Given the description of an element on the screen output the (x, y) to click on. 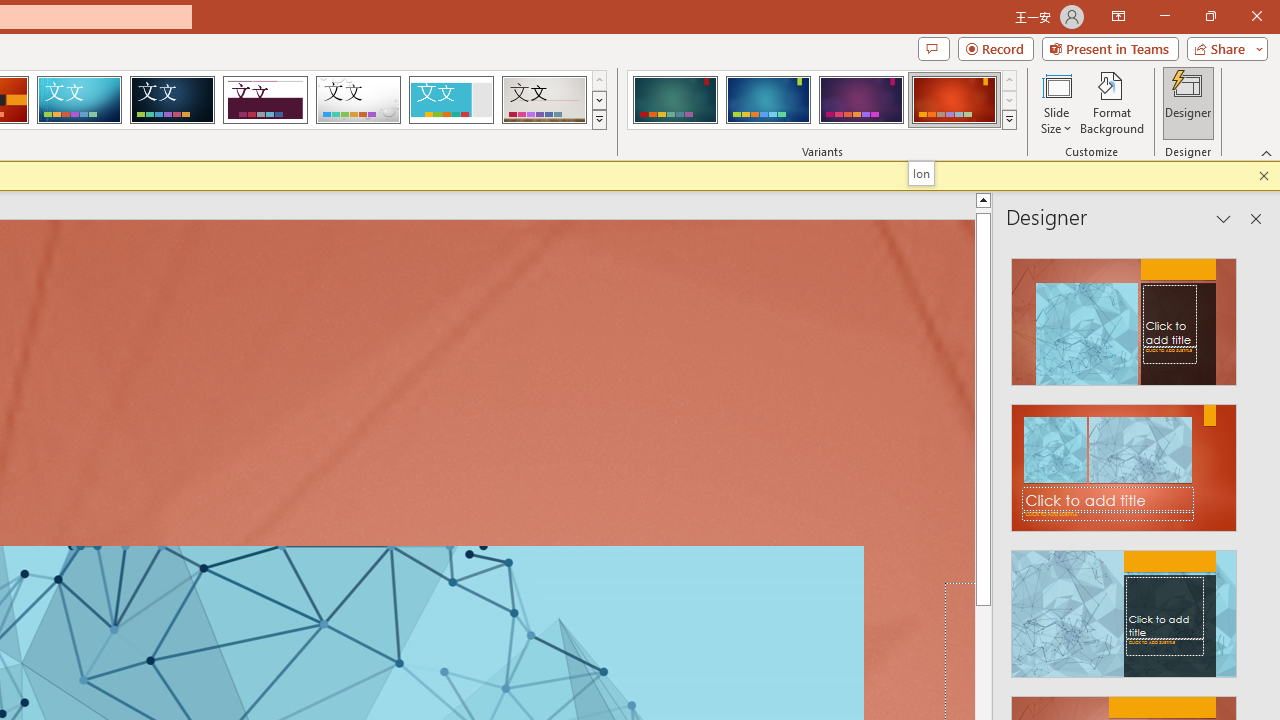
Ion Variant 4 (953, 100)
Frame (450, 100)
